Given the description of an element on the screen output the (x, y) to click on. 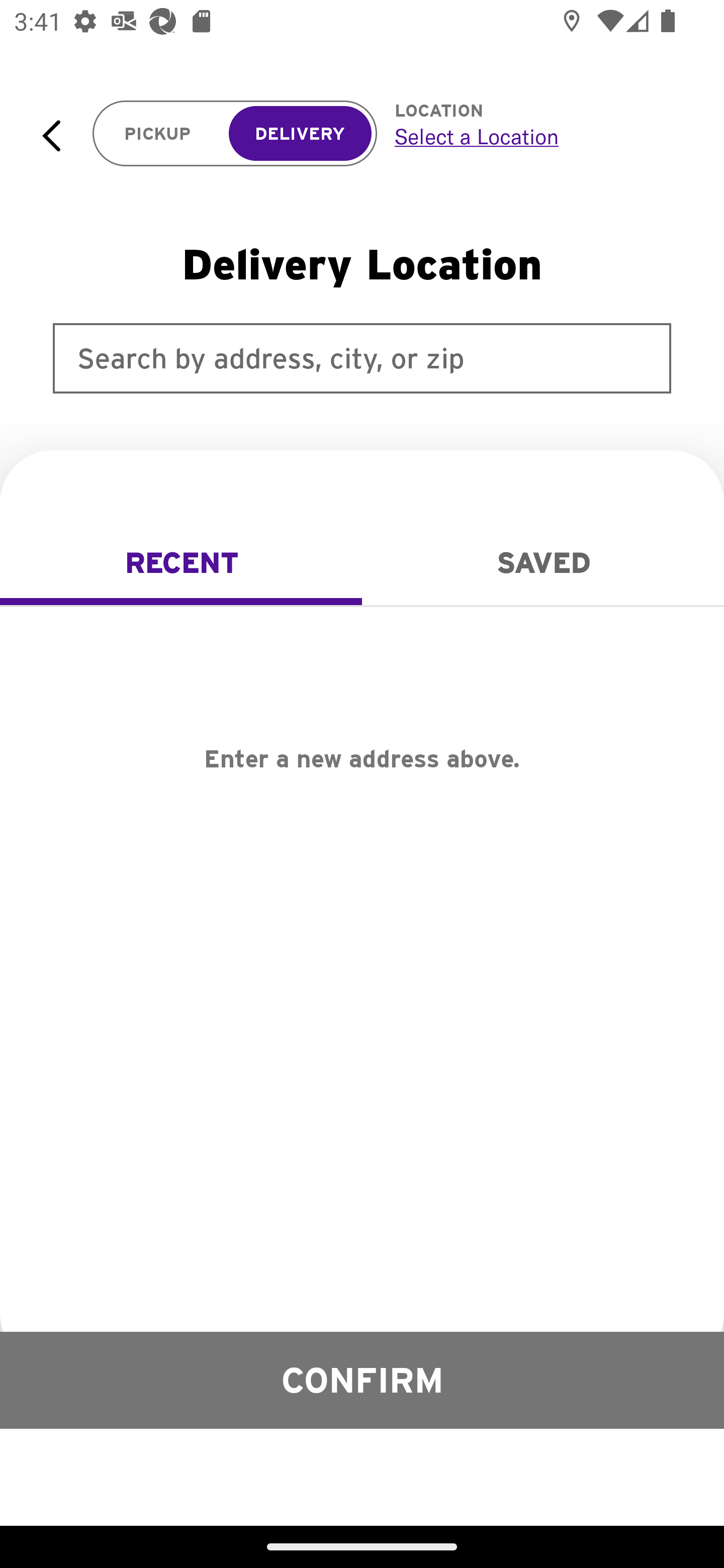
PICKUP (157, 133)
DELIVERY (299, 133)
Select a Location (536, 136)
Search by address, city, or zip (361, 358)
Saved SAVED (543, 562)
CONFIRM (362, 1379)
